Given the description of an element on the screen output the (x, y) to click on. 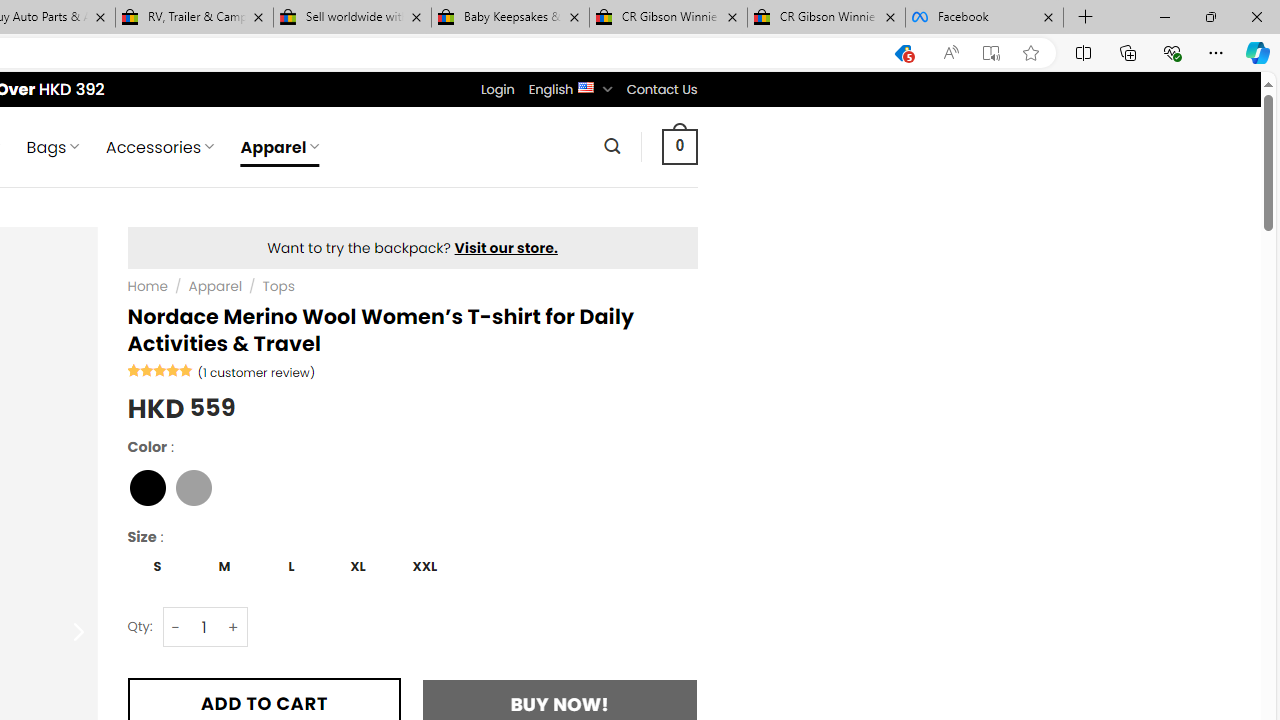
- (175, 627)
Enter Immersive Reader (F9) (991, 53)
This site has coupons! Shopping in Microsoft Edge, 5 (902, 53)
